Given the description of an element on the screen output the (x, y) to click on. 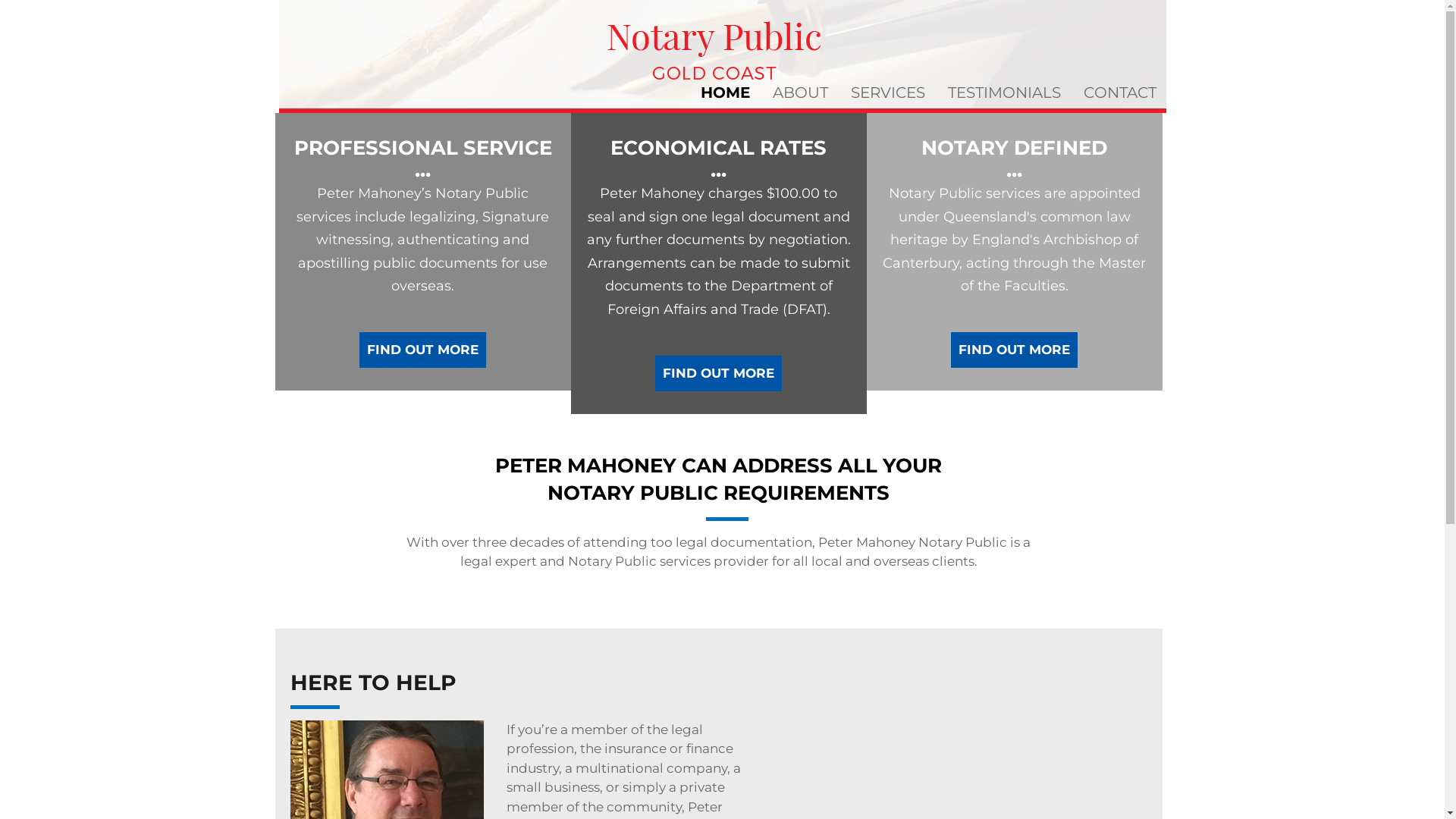
HOME Element type: text (724, 92)
FIND OUT MORE Element type: text (718, 373)
SERVICES Element type: text (887, 92)
TESTIMONIALS Element type: text (1003, 92)
ABOUT Element type: text (799, 92)
FIND OUT MORE Element type: text (422, 349)
FIND OUT MORE Element type: text (1013, 349)
CONTACT Element type: text (1119, 92)
